Given the description of an element on the screen output the (x, y) to click on. 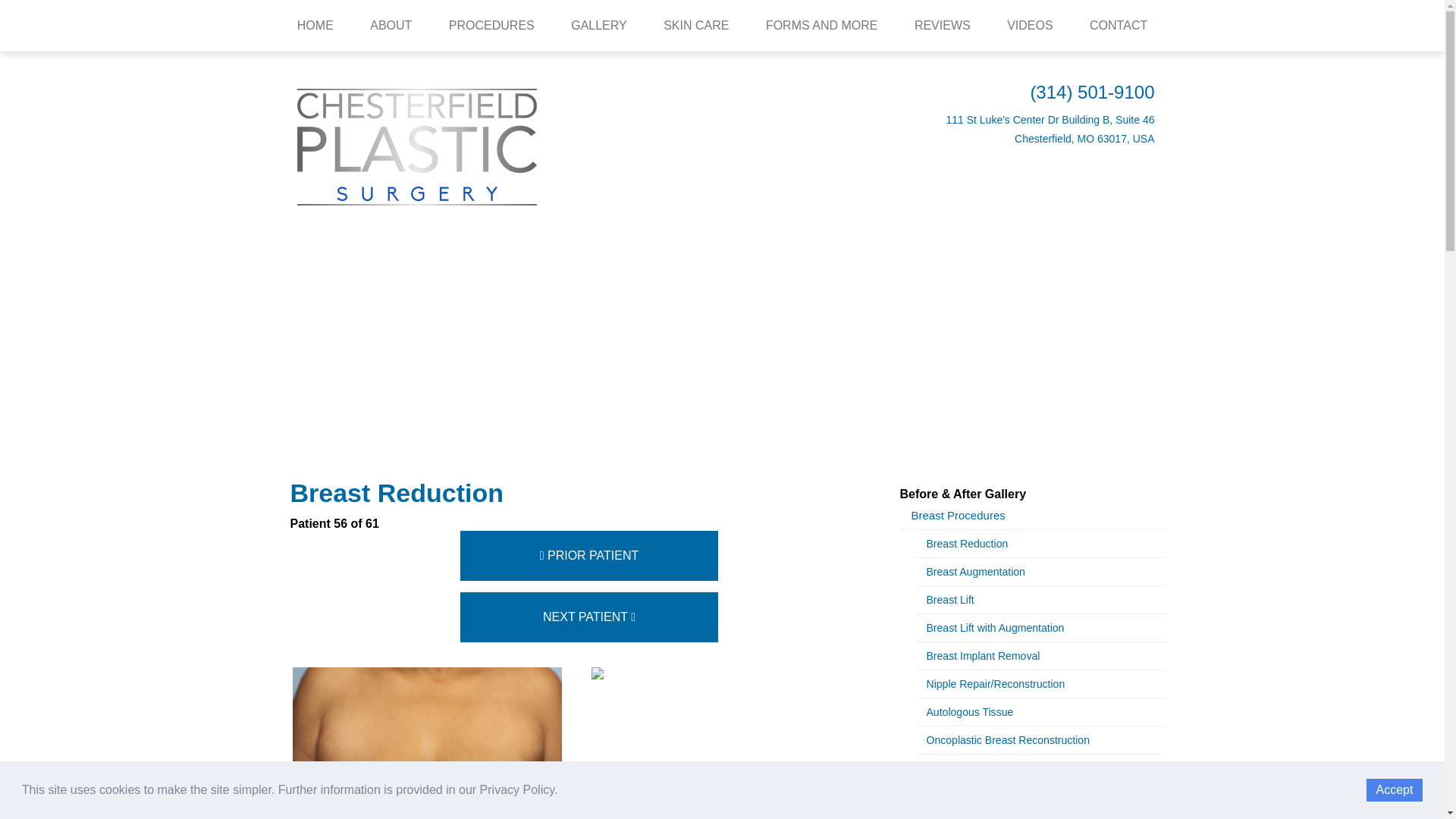
PROCEDURES (491, 25)
Previous Breast Reduction Case (588, 555)
ABOUT (390, 25)
Next Breast Reduction Case (588, 617)
HOME (315, 25)
